Given the description of an element on the screen output the (x, y) to click on. 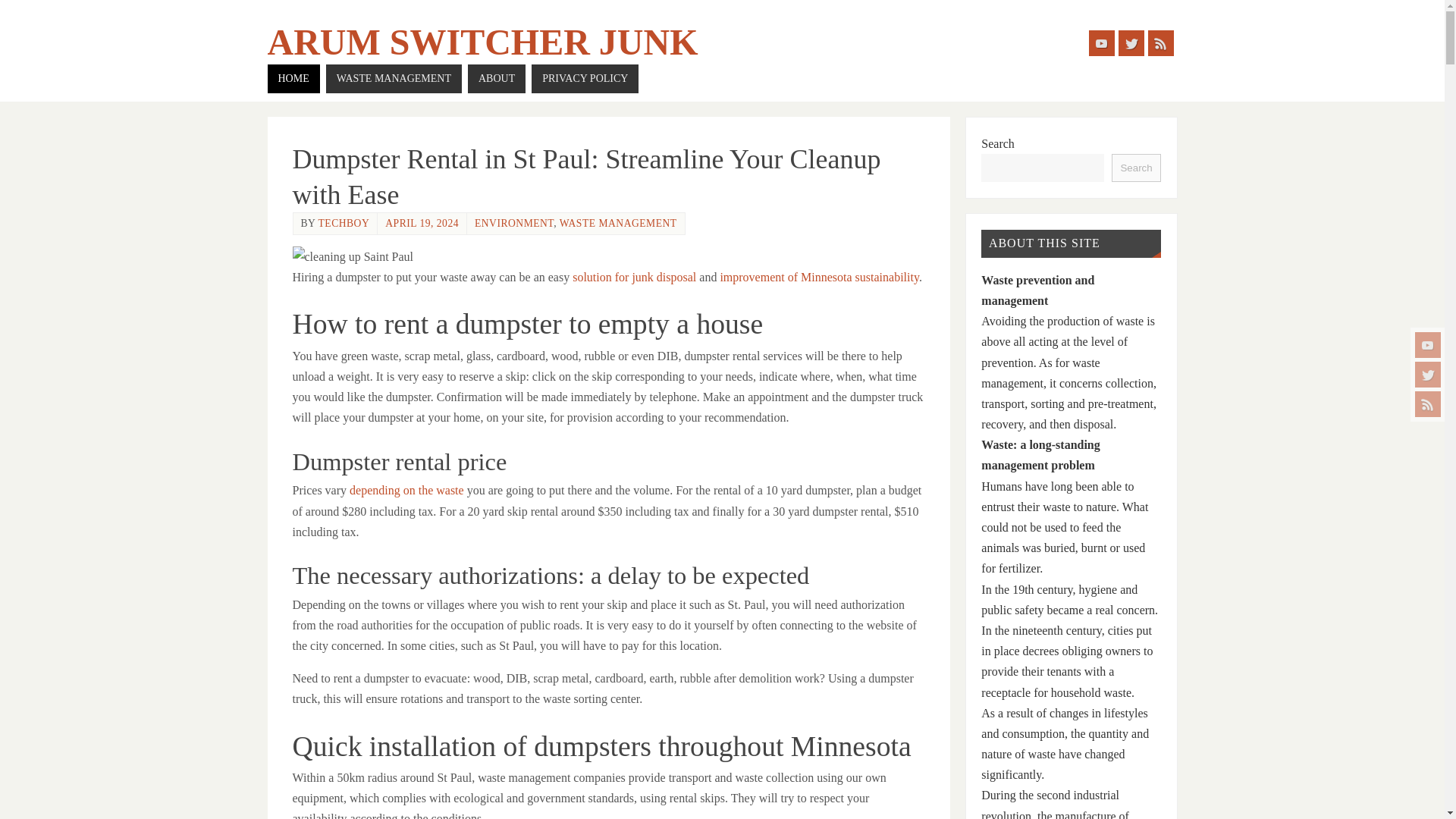
RSS (1428, 403)
HOME (292, 78)
YouTube (1102, 43)
improvement of Minnesota sustainability (818, 277)
depending on the waste (406, 490)
WASTE MANAGEMENT (393, 78)
View all posts by techboy (343, 223)
TECHBOY (343, 223)
WASTE MANAGEMENT (618, 223)
Twitter (1428, 374)
ENVIRONMENT (513, 223)
RSS (1160, 43)
ABOUT (496, 78)
YouTube (1428, 344)
